Given the description of an element on the screen output the (x, y) to click on. 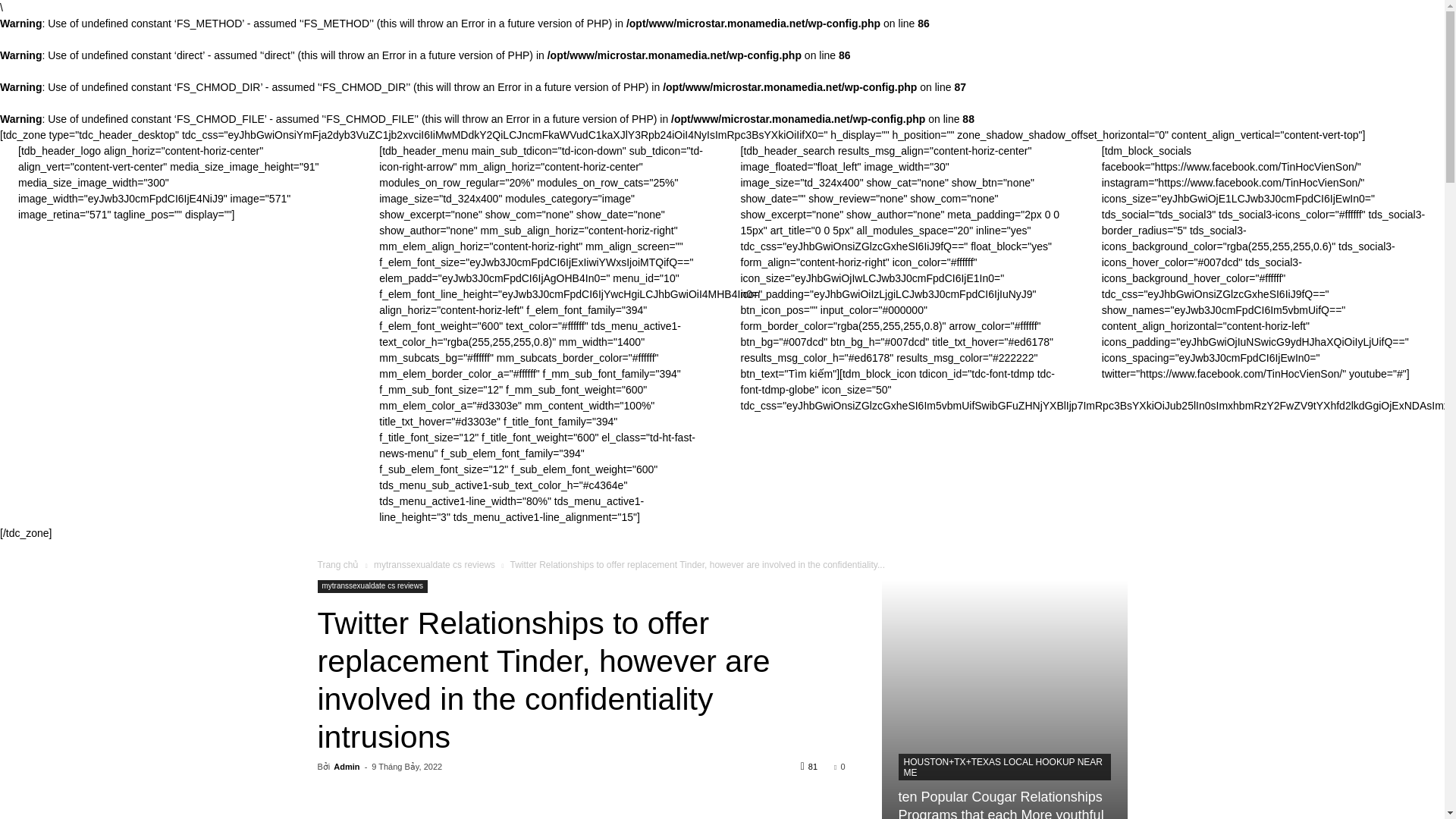
mytranssexualdate cs reviews (371, 585)
0 (839, 766)
mytranssexualdate cs reviews (434, 564)
Admin (346, 766)
